Given the description of an element on the screen output the (x, y) to click on. 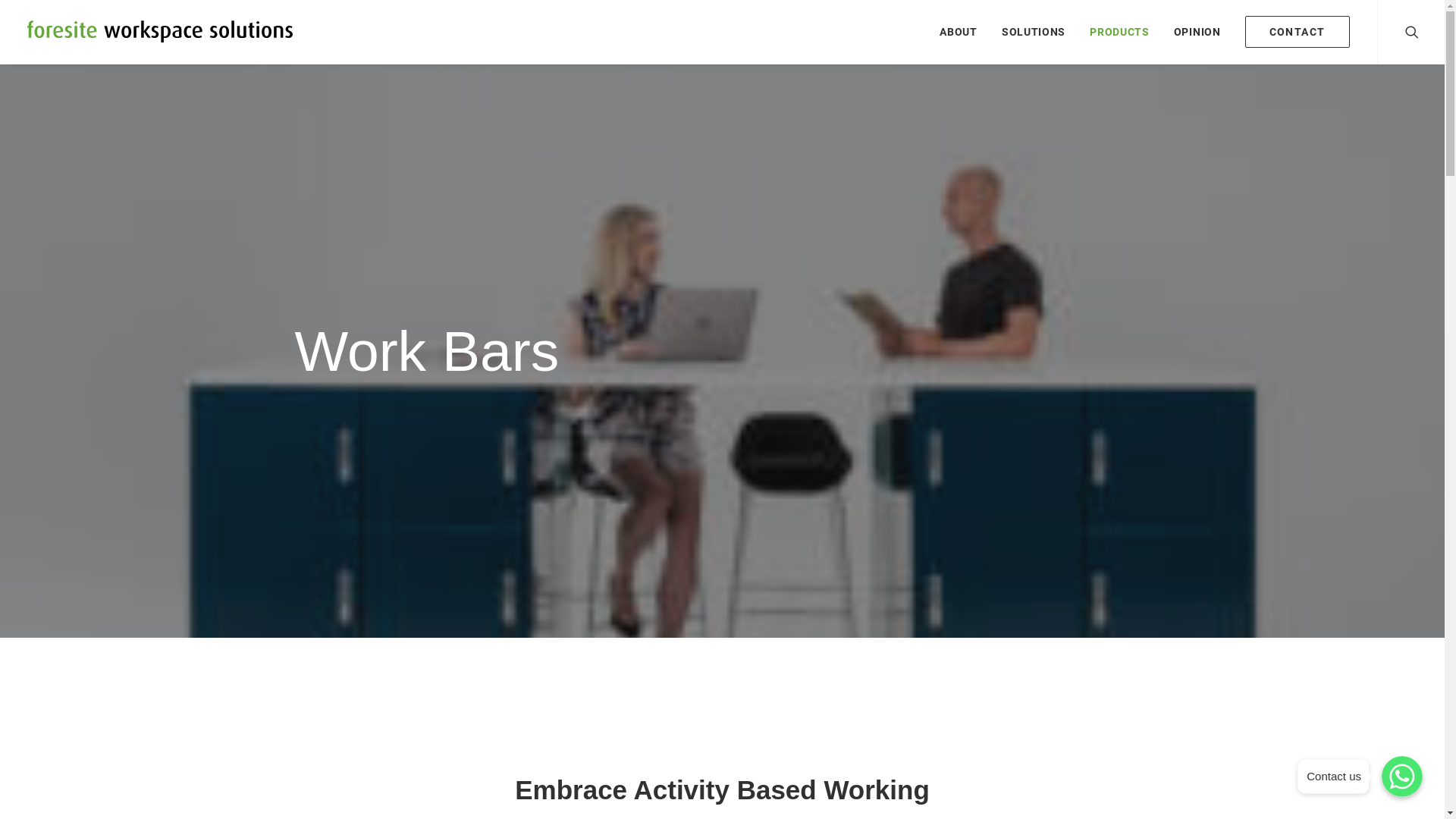
SOLUTIONS Element type: text (1033, 31)
WhatsApp Element type: text (1401, 776)
CONTACT Element type: text (1291, 31)
ABOUT Element type: text (958, 31)
OPINION Element type: text (1197, 31)
PRODUCTS Element type: text (1119, 31)
